Given the description of an element on the screen output the (x, y) to click on. 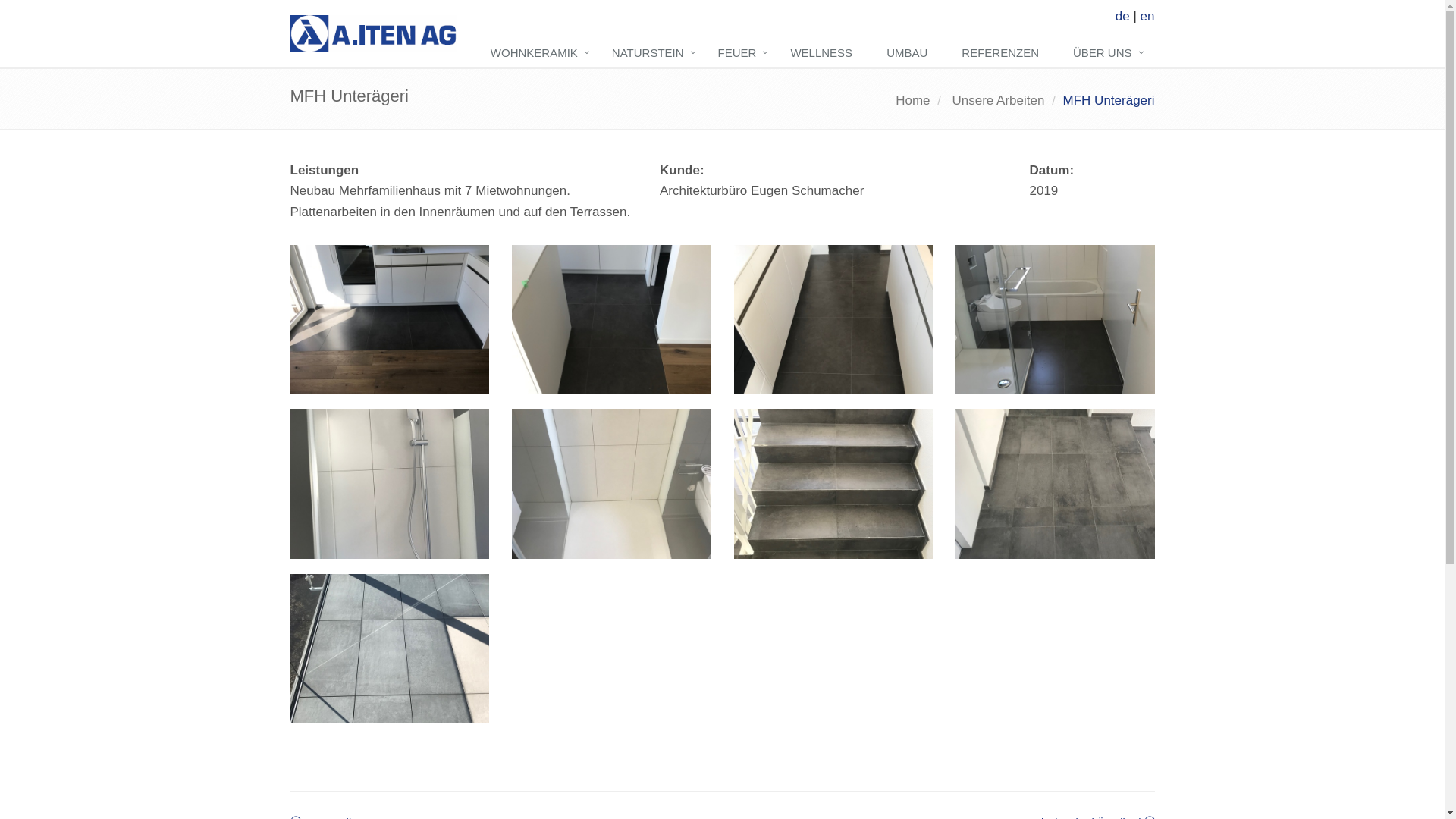
WOHNKERAMIK Element type: text (539, 53)
Dusche Element type: hover (611, 483)
FEUER Element type: text (742, 53)
de Element type: text (1122, 16)
en Element type: text (1147, 16)
Treppenhaus Element type: hover (833, 483)
Balkon Element type: hover (389, 648)
Home Element type: text (912, 100)
Treppenhaus Element type: hover (1054, 483)
UMBAU Element type: text (912, 53)
WELLNESS Element type: text (826, 53)
NATURSTEIN Element type: text (653, 53)
Unsere Arbeiten Element type: text (997, 100)
Dusche Element type: hover (1054, 319)
Dusche Element type: hover (389, 483)
REFERENZEN Element type: text (1005, 53)
